Given the description of an element on the screen output the (x, y) to click on. 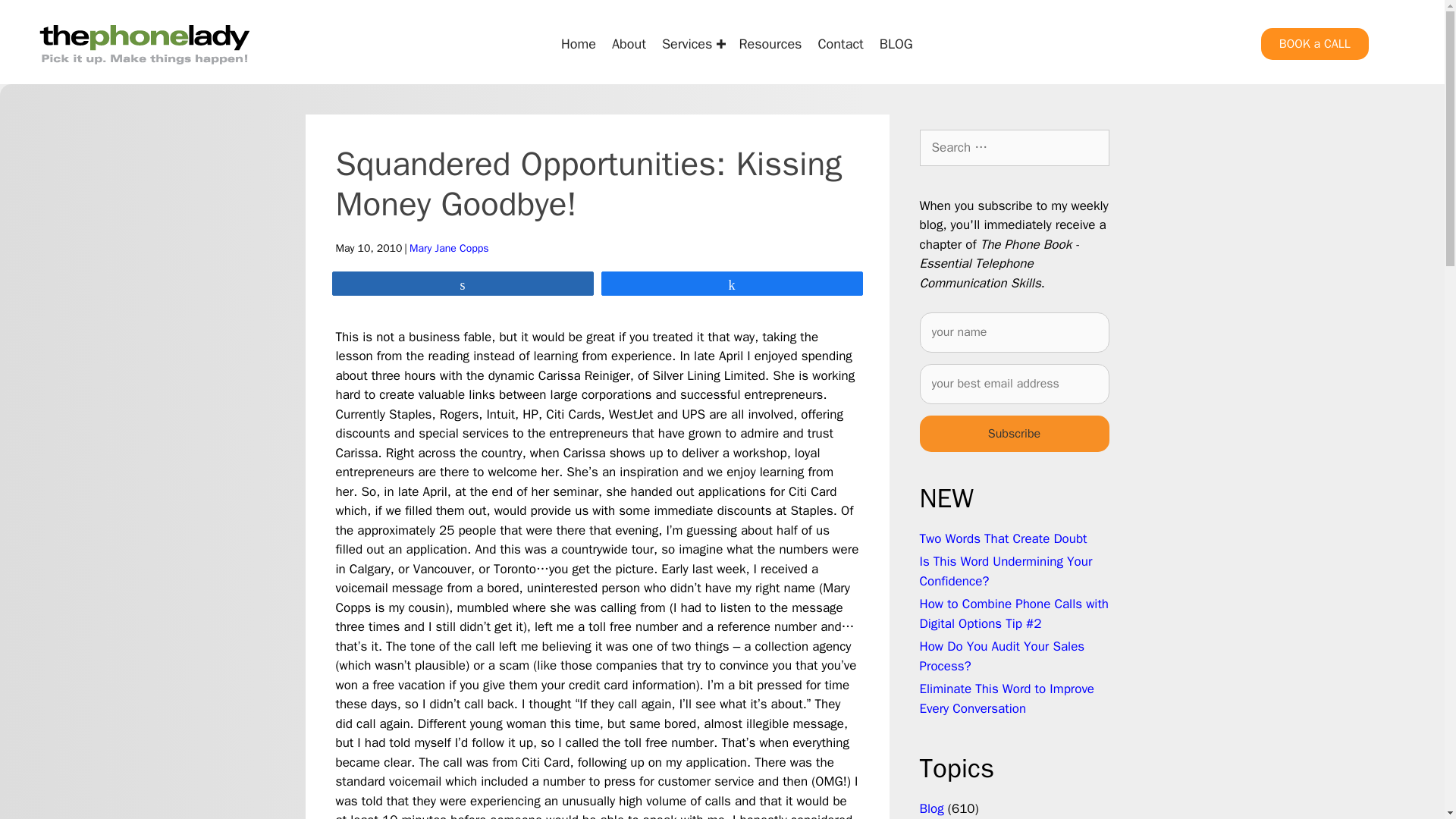
How Do You Audit Your Sales Process? (1001, 656)
Two Words That Create Doubt (1002, 538)
Is This Word Undermining Your Confidence? (1005, 570)
About (628, 43)
BOOK a CALL (1314, 43)
Mary Jane Copps (449, 247)
Search (35, 18)
Resources (769, 43)
Contact (839, 43)
Eliminate This Word to Improve Every Conversation (1006, 698)
